Given the description of an element on the screen output the (x, y) to click on. 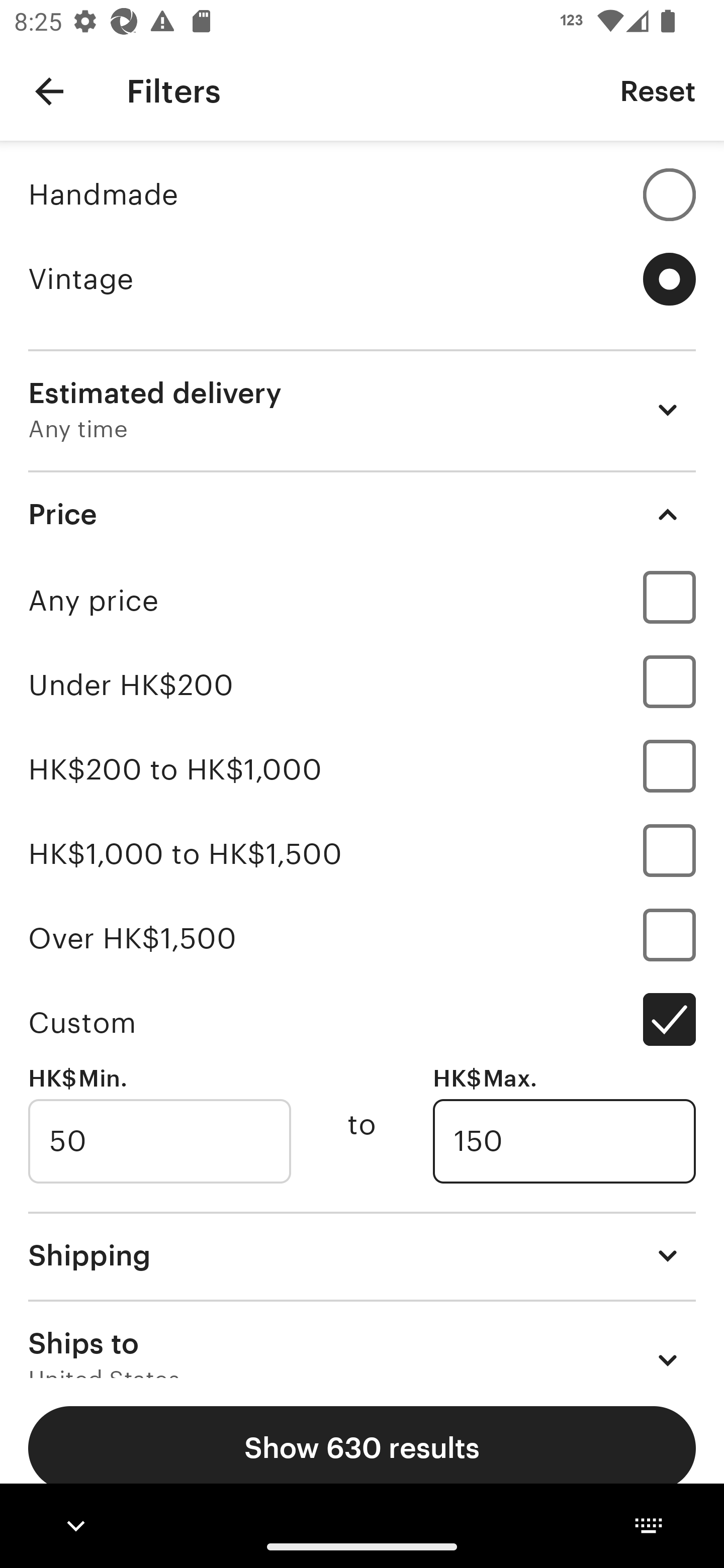
Navigate up (49, 91)
Reset (657, 90)
Handmade (362, 194)
Vintage (362, 278)
Estimated delivery Any time (362, 409)
Price (362, 514)
Any price (362, 600)
Under HK$200 (362, 684)
HK$200 to HK$1,000 (362, 769)
HK$1,000 to HK$1,500 (362, 853)
Over HK$1,500 (362, 937)
Custom (362, 1022)
50 (159, 1141)
150 (563, 1141)
Shipping (362, 1255)
Ships to United States (362, 1338)
Show 630 results Show 11,032 results (361, 1448)
